Given the description of an element on the screen output the (x, y) to click on. 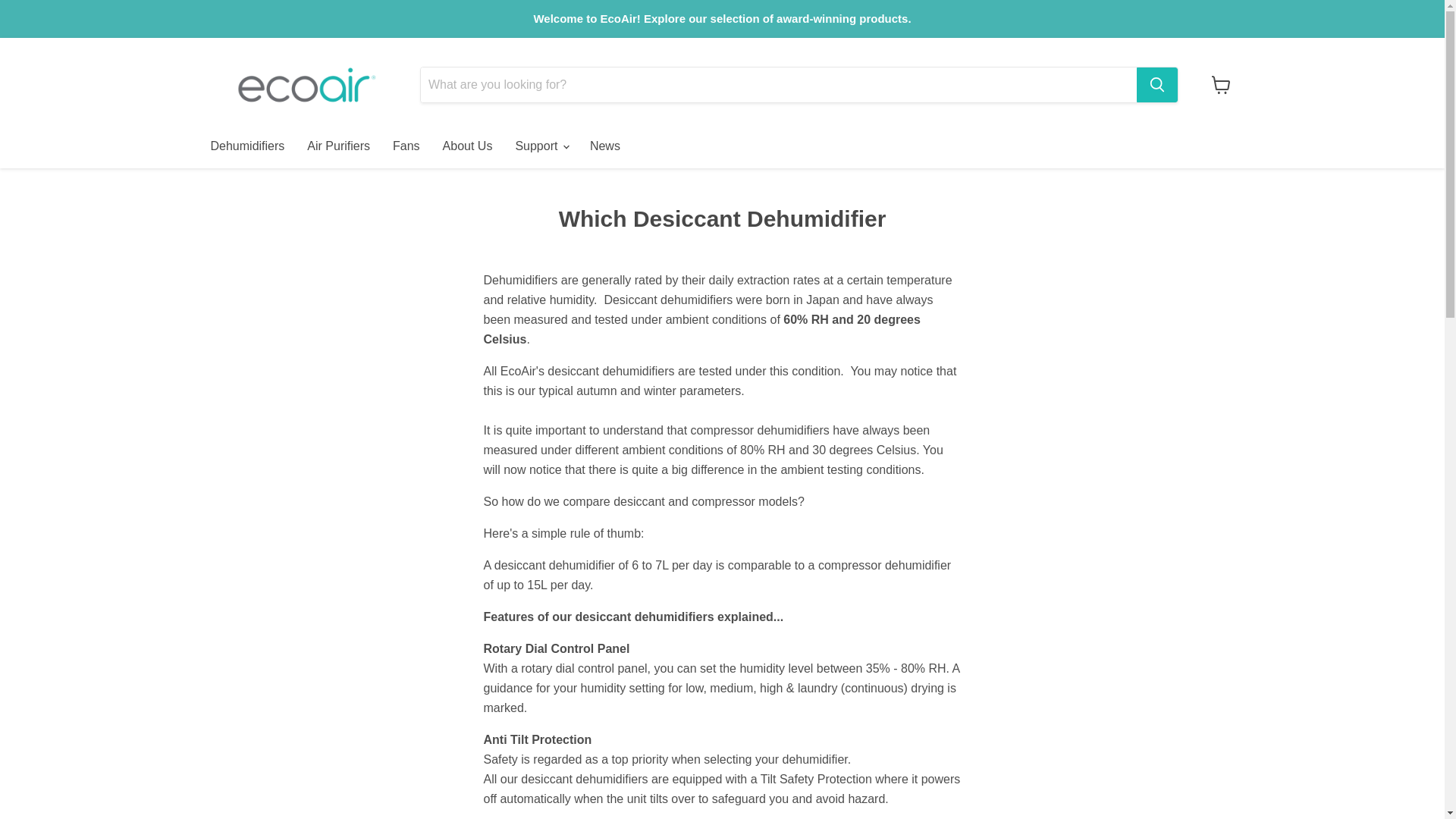
About Us (466, 146)
Fans (405, 146)
Dehumidifiers (246, 146)
Air Purifiers (338, 146)
News (604, 146)
View cart (1221, 84)
